Given the description of an element on the screen output the (x, y) to click on. 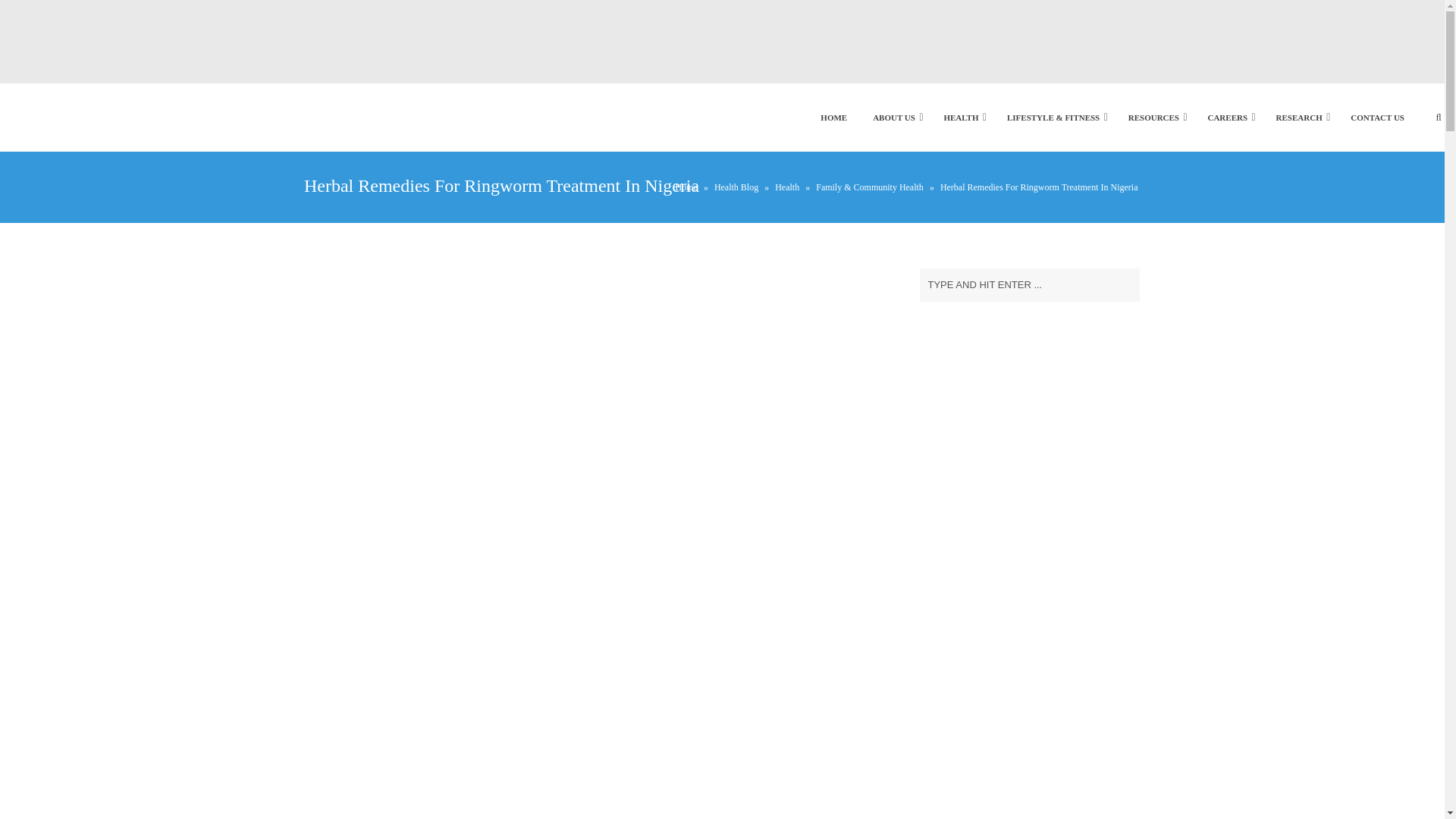
ABOUT US (894, 117)
TYPE AND HIT ENTER ... (1028, 285)
CAREERS (1226, 117)
Health Blog (736, 186)
CONTACT US (1377, 117)
TYPE AND HIT ENTER ... (1028, 285)
Health (786, 186)
Home (686, 186)
RESOURCES (1153, 117)
RESEARCH (1299, 117)
